Given the description of an element on the screen output the (x, y) to click on. 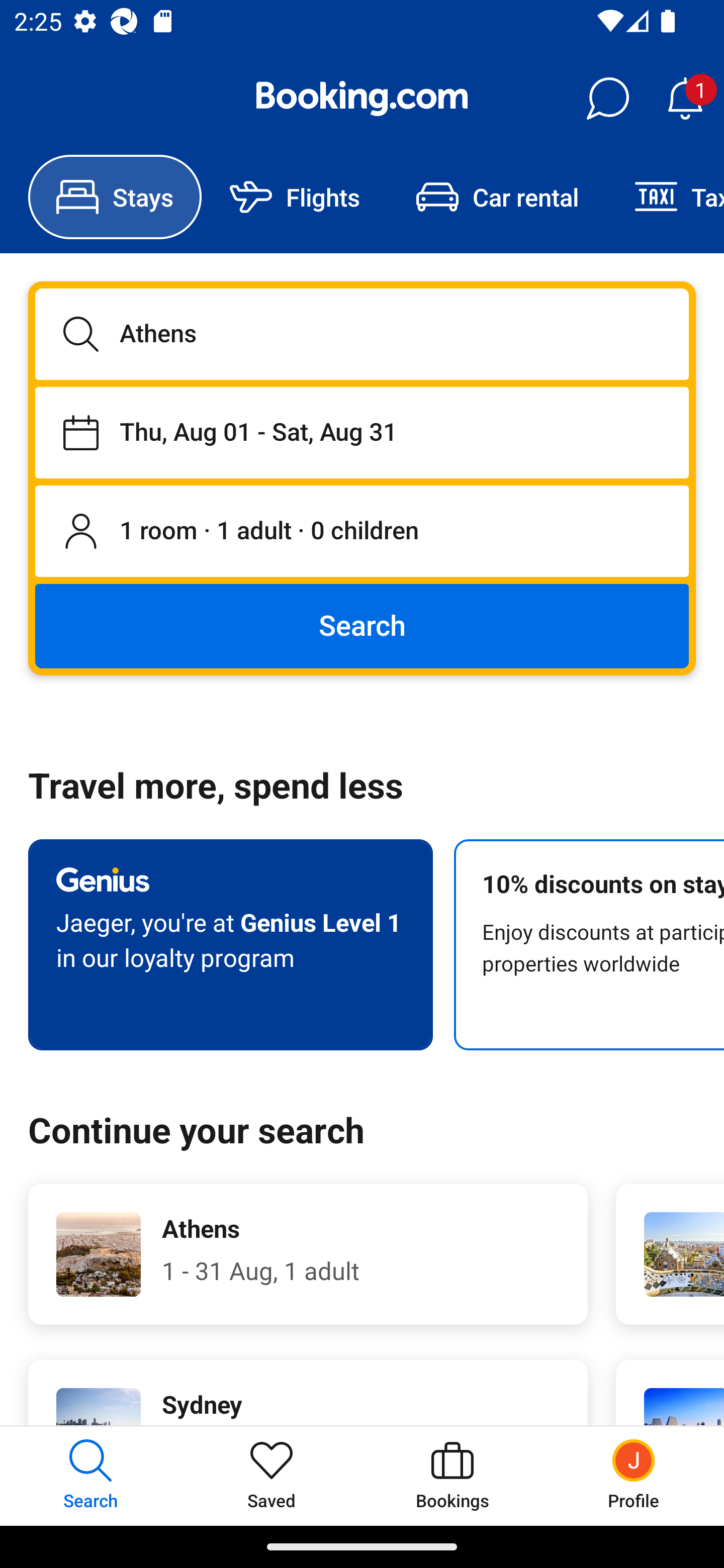
Messages (607, 98)
Notifications (685, 98)
Stays (114, 197)
Flights (294, 197)
Car rental (497, 197)
Taxi (665, 197)
Athens (361, 333)
Staying from Thu, Aug 01 until Sat, Aug 31 (361, 432)
1 room, 1 adult, 0 children (361, 531)
Search (361, 625)
Athens 1 - 31 Aug, 1 adult (307, 1253)
Saved (271, 1475)
Bookings (452, 1475)
Profile (633, 1475)
